Given the description of an element on the screen output the (x, y) to click on. 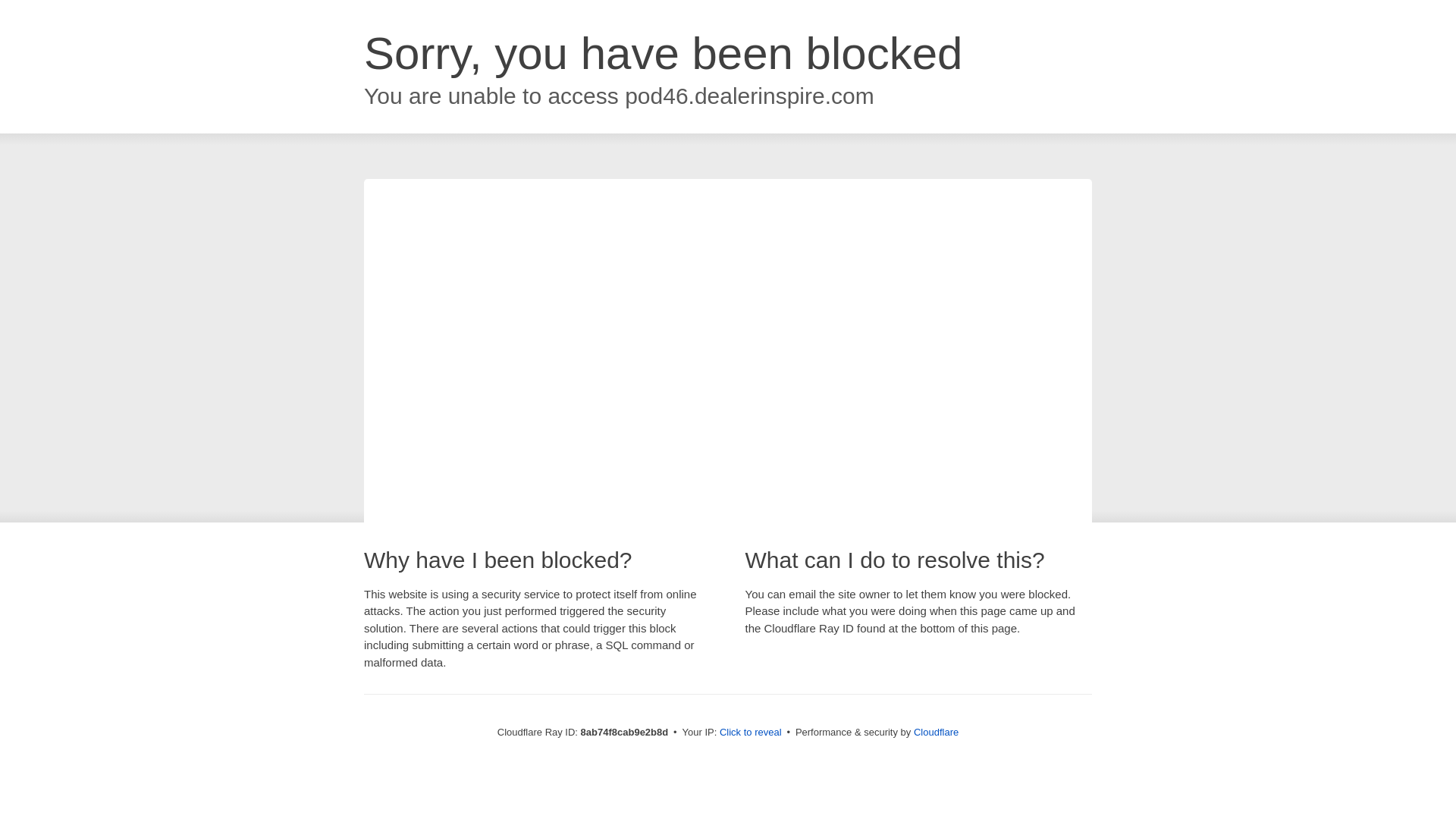
Cloudflare (936, 731)
Click to reveal (750, 732)
